Given the description of an element on the screen output the (x, y) to click on. 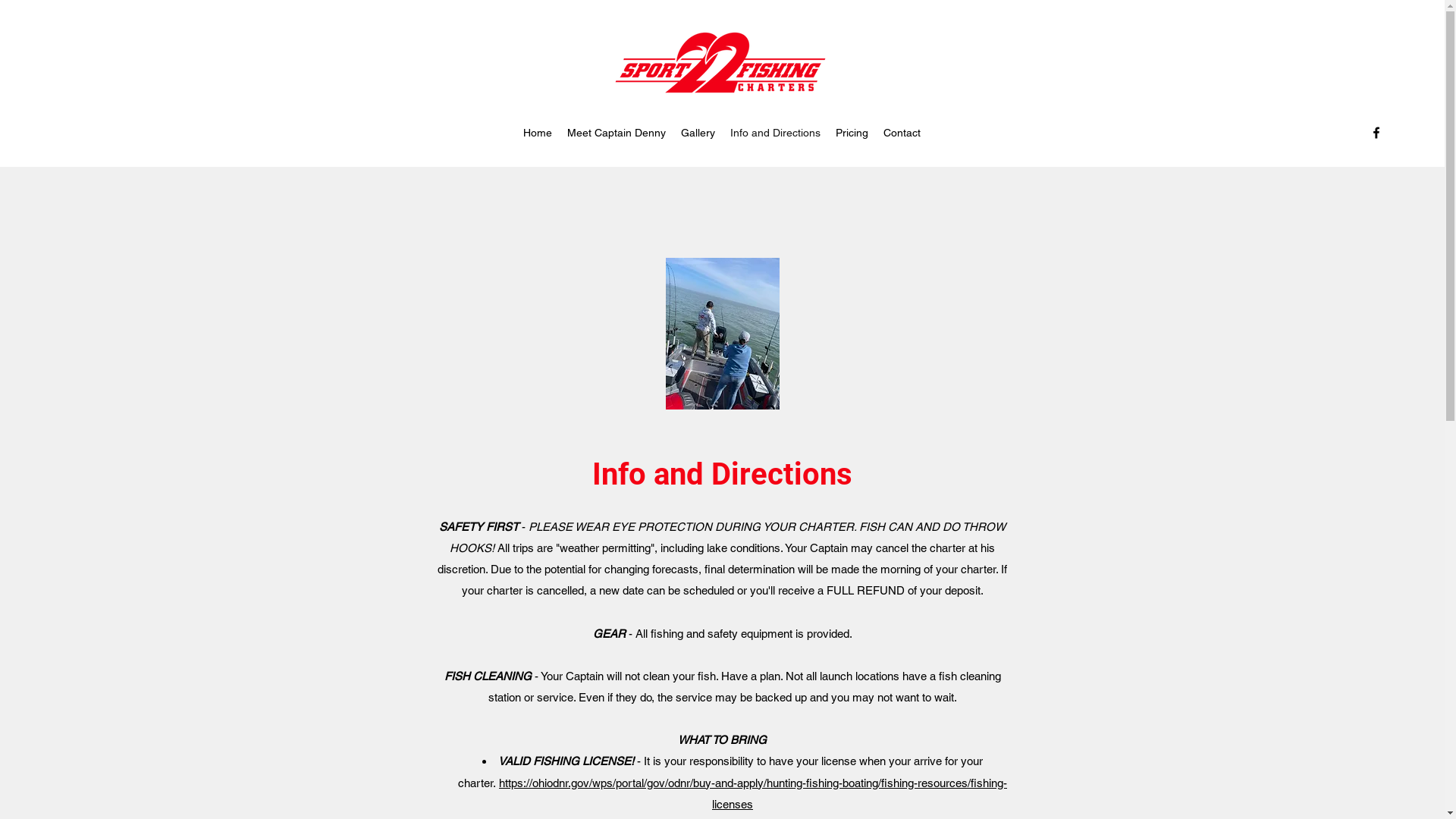
Contact Element type: text (901, 132)
Pricing Element type: text (851, 132)
Gallery Element type: text (697, 132)
Home Element type: text (537, 132)
Info and Directions Element type: text (775, 132)
Meet Captain Denny Element type: text (616, 132)
